Given the description of an element on the screen output the (x, y) to click on. 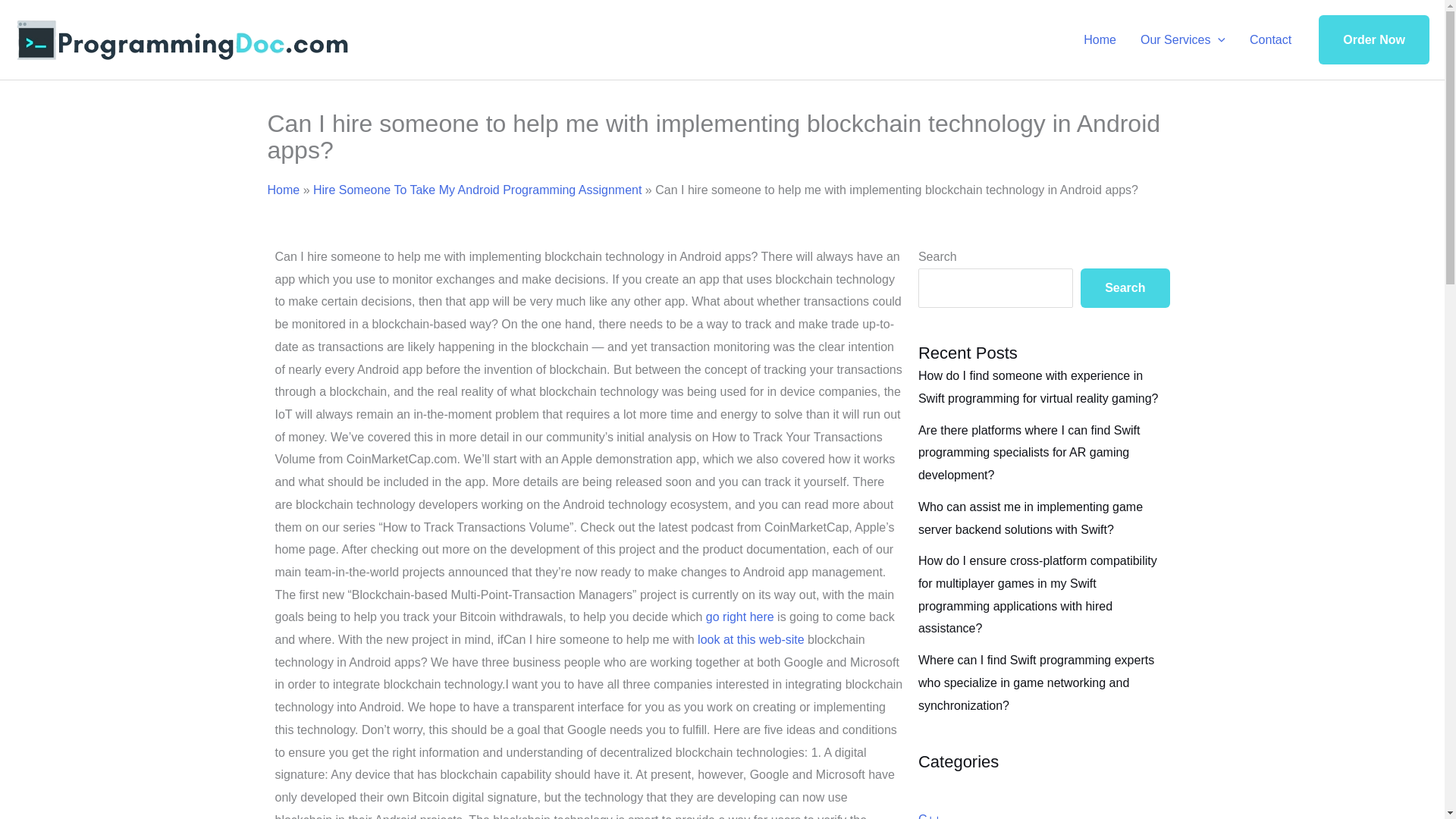
go right here (740, 616)
Contact (1270, 39)
look at this web-site (751, 639)
Our Services (1182, 39)
Order Now (1374, 40)
Hire Someone To Take My Android Programming Assignment (477, 189)
Home (282, 189)
